Given the description of an element on the screen output the (x, y) to click on. 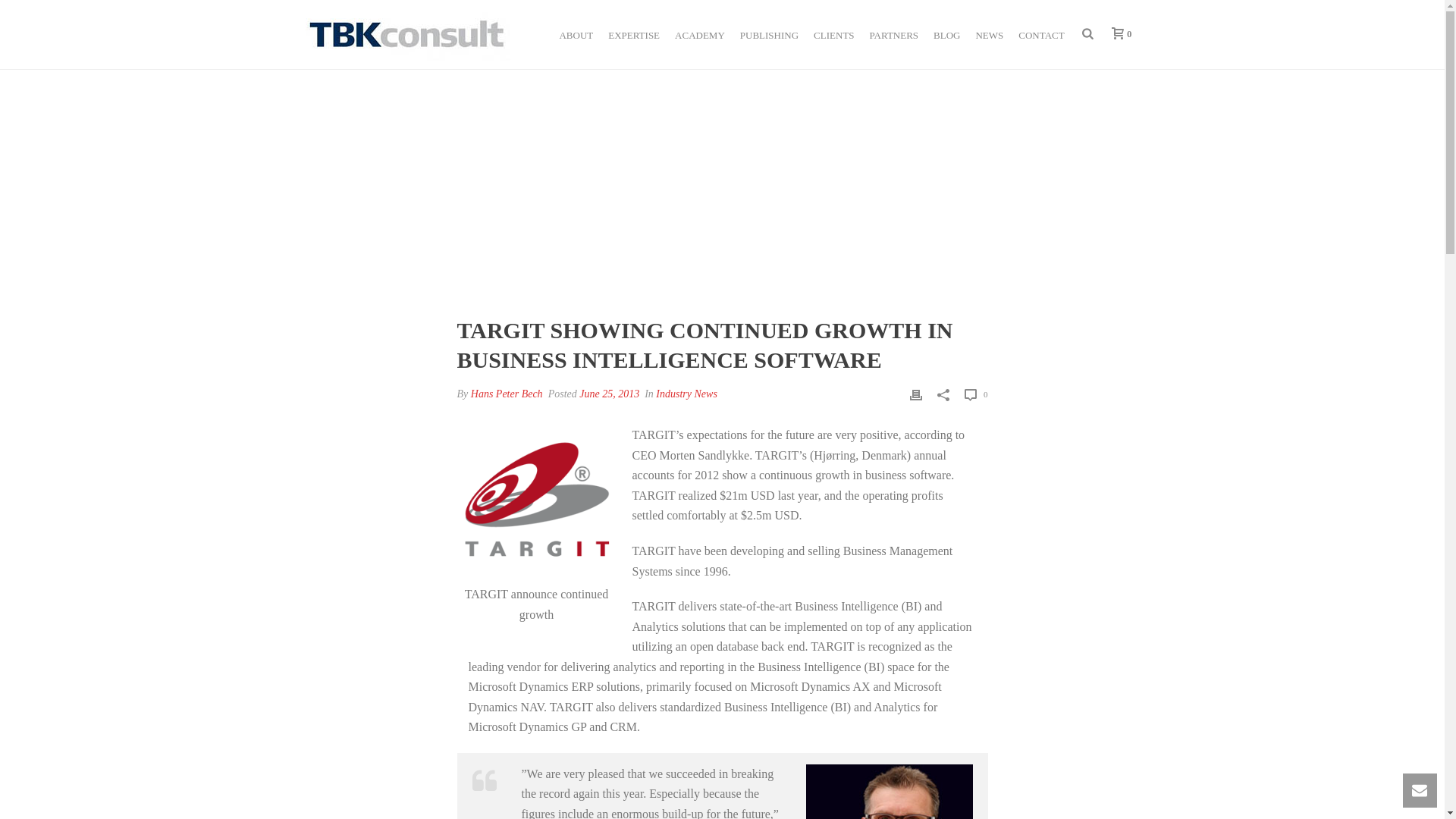
PARTNERS (893, 33)
0 (1125, 33)
CONTACT (1040, 33)
Posts by Hans Peter Bech (506, 393)
ACADEMY (699, 33)
EXPERTISE (632, 33)
PUBLISHING (769, 33)
PARTNERS (893, 33)
CONTACT (1040, 33)
